Given the description of an element on the screen output the (x, y) to click on. 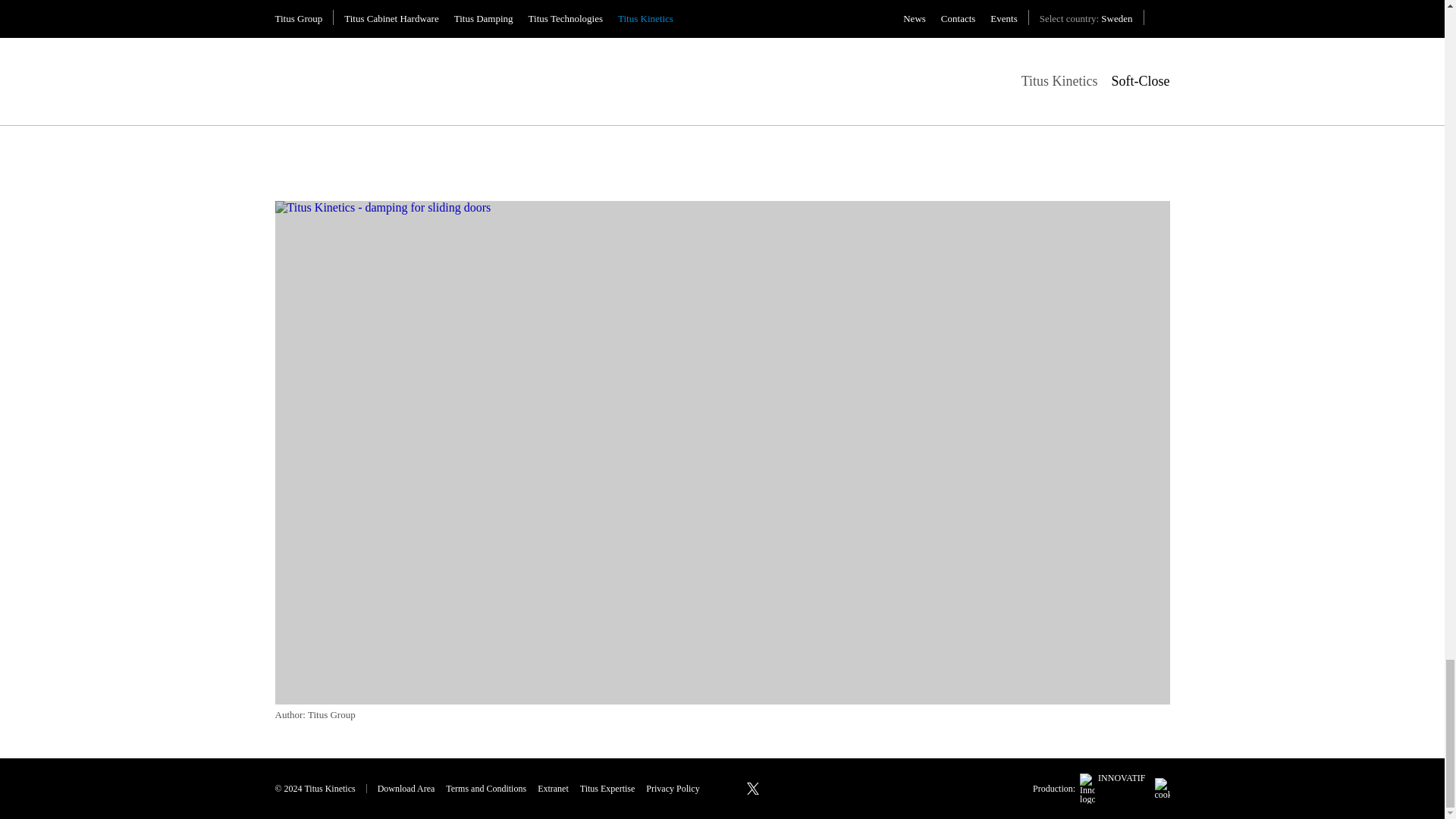
Terms and Conditions (485, 788)
Download Area (406, 788)
Privacy Policy (672, 788)
Extranet (553, 788)
Titus Expertise (606, 788)
Titus Kinetics Twitter (752, 788)
